Given the description of an element on the screen output the (x, y) to click on. 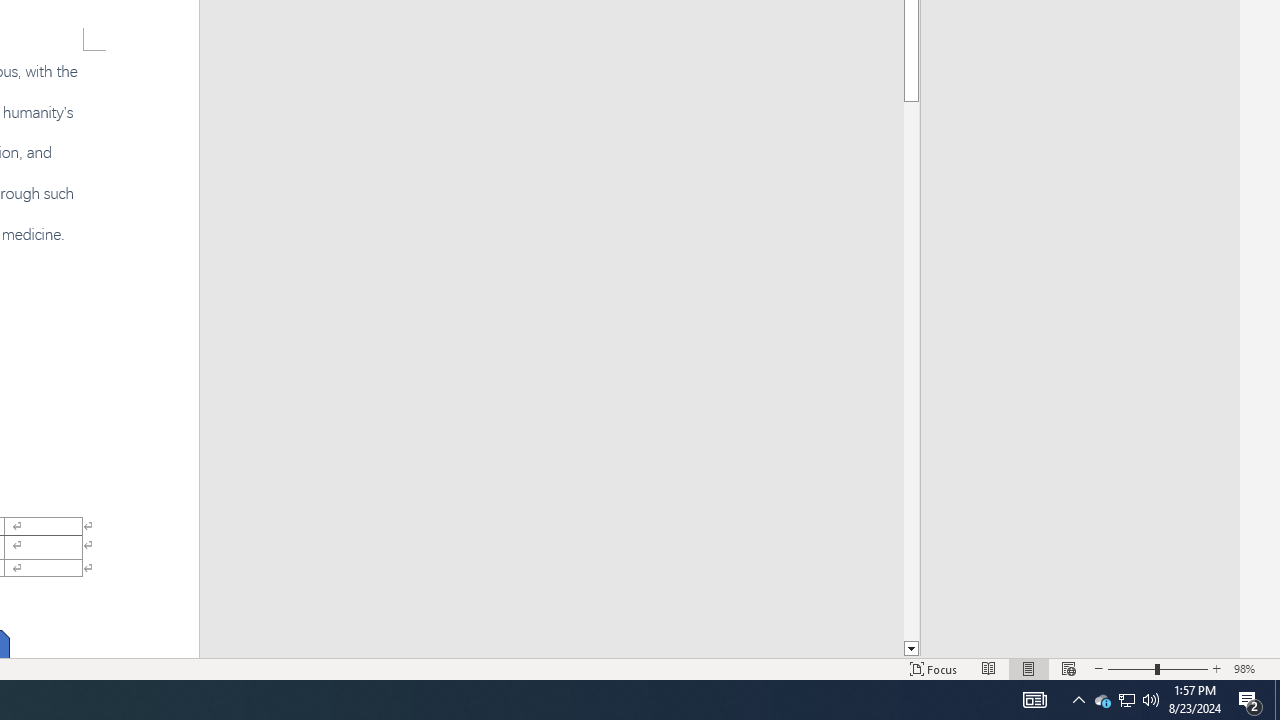
Line down (911, 649)
Zoom (1158, 668)
Print Layout (1028, 668)
Focus  (934, 668)
Web Layout (1069, 668)
Zoom Out (1131, 668)
Read Mode (988, 668)
Zoom In (1217, 668)
Page down (911, 371)
